Given the description of an element on the screen output the (x, y) to click on. 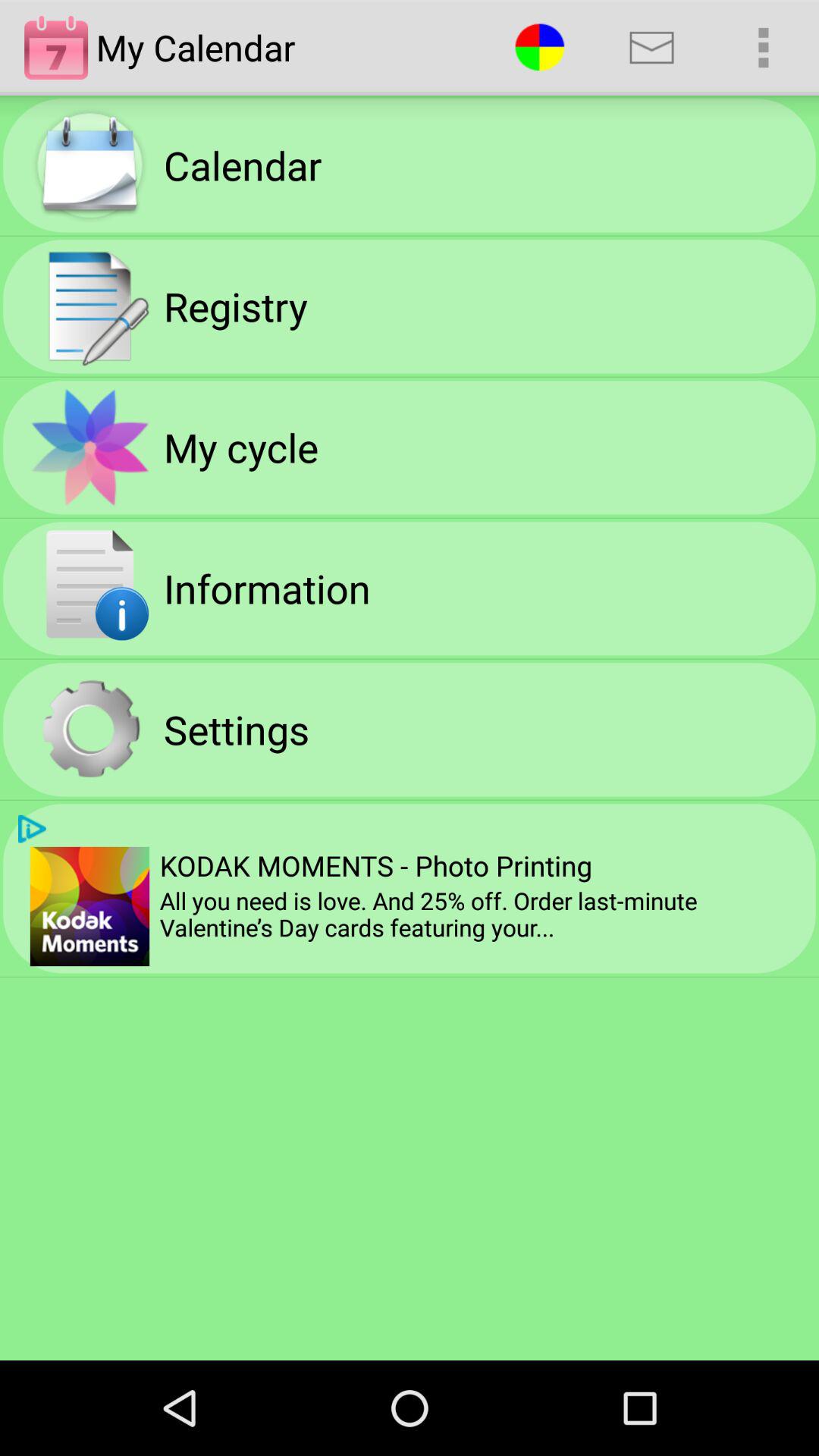
choose information app (266, 587)
